Given the description of an element on the screen output the (x, y) to click on. 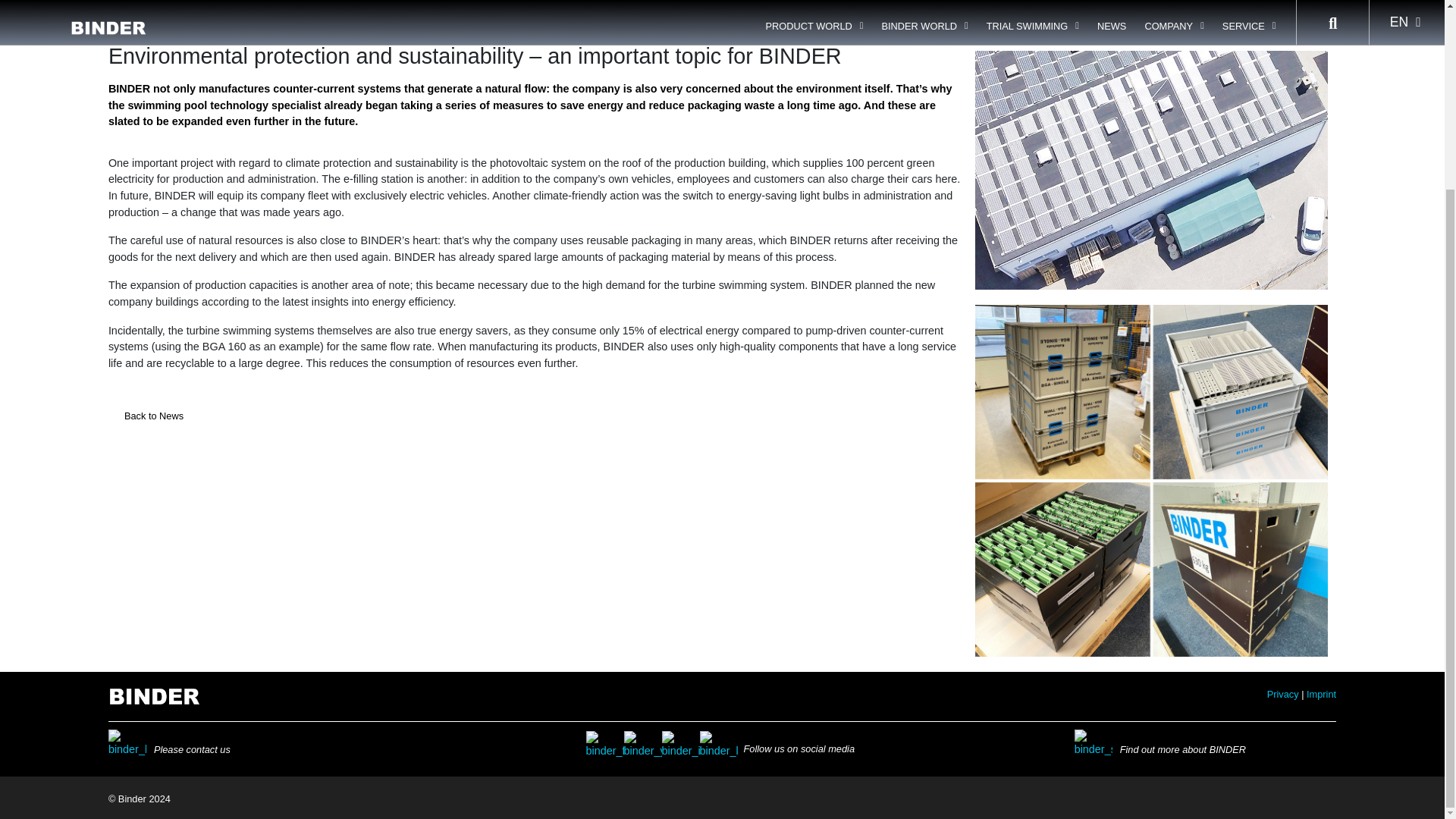
Back to News (153, 415)
Privacy (1282, 694)
Imprint (1321, 694)
